Given the description of an element on the screen output the (x, y) to click on. 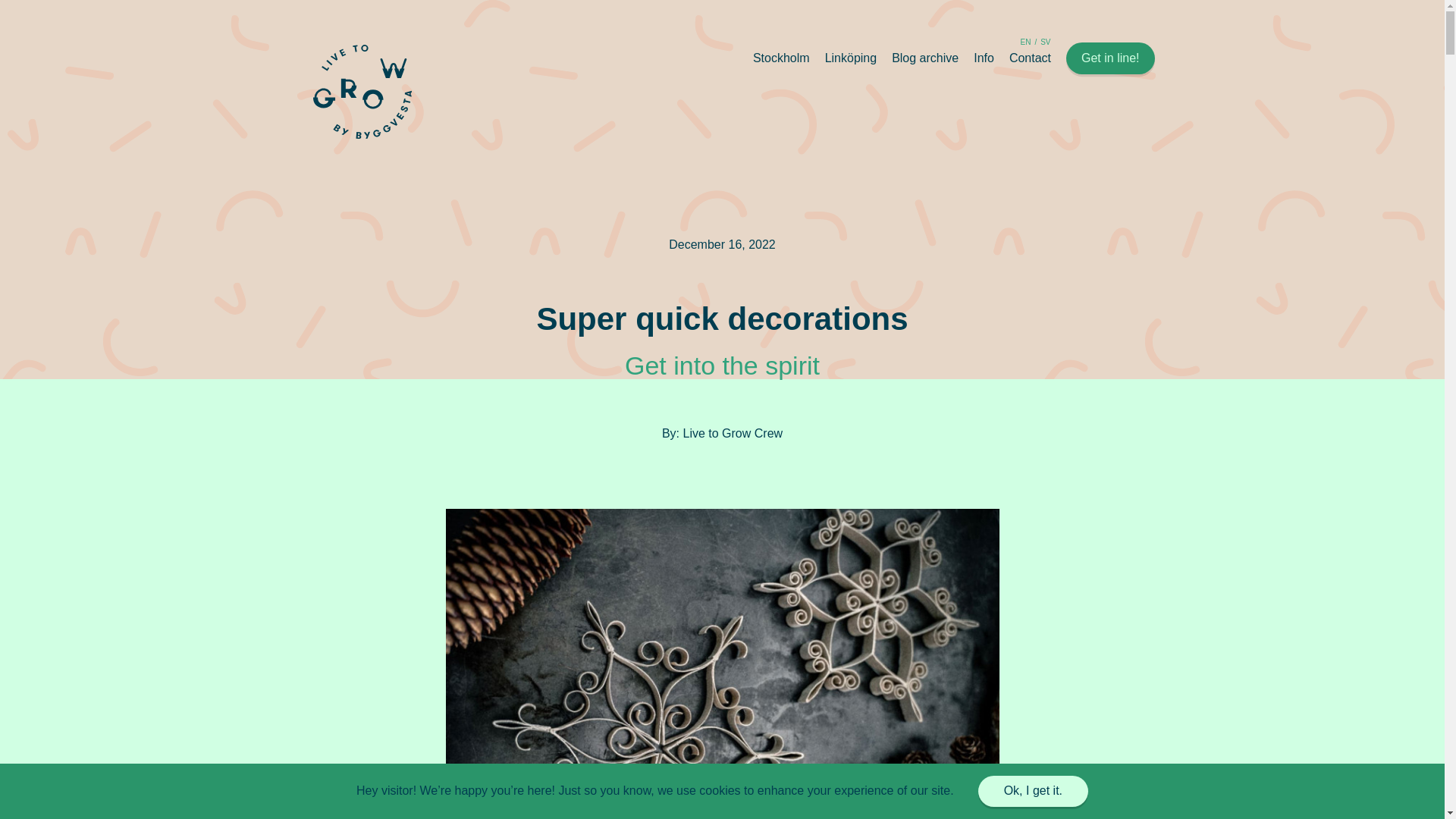
Info (984, 57)
Stockholm (780, 57)
Blog archive (924, 57)
Contact (1030, 57)
SV (1045, 41)
EN (1024, 41)
Get in line! (1109, 58)
